Given the description of an element on the screen output the (x, y) to click on. 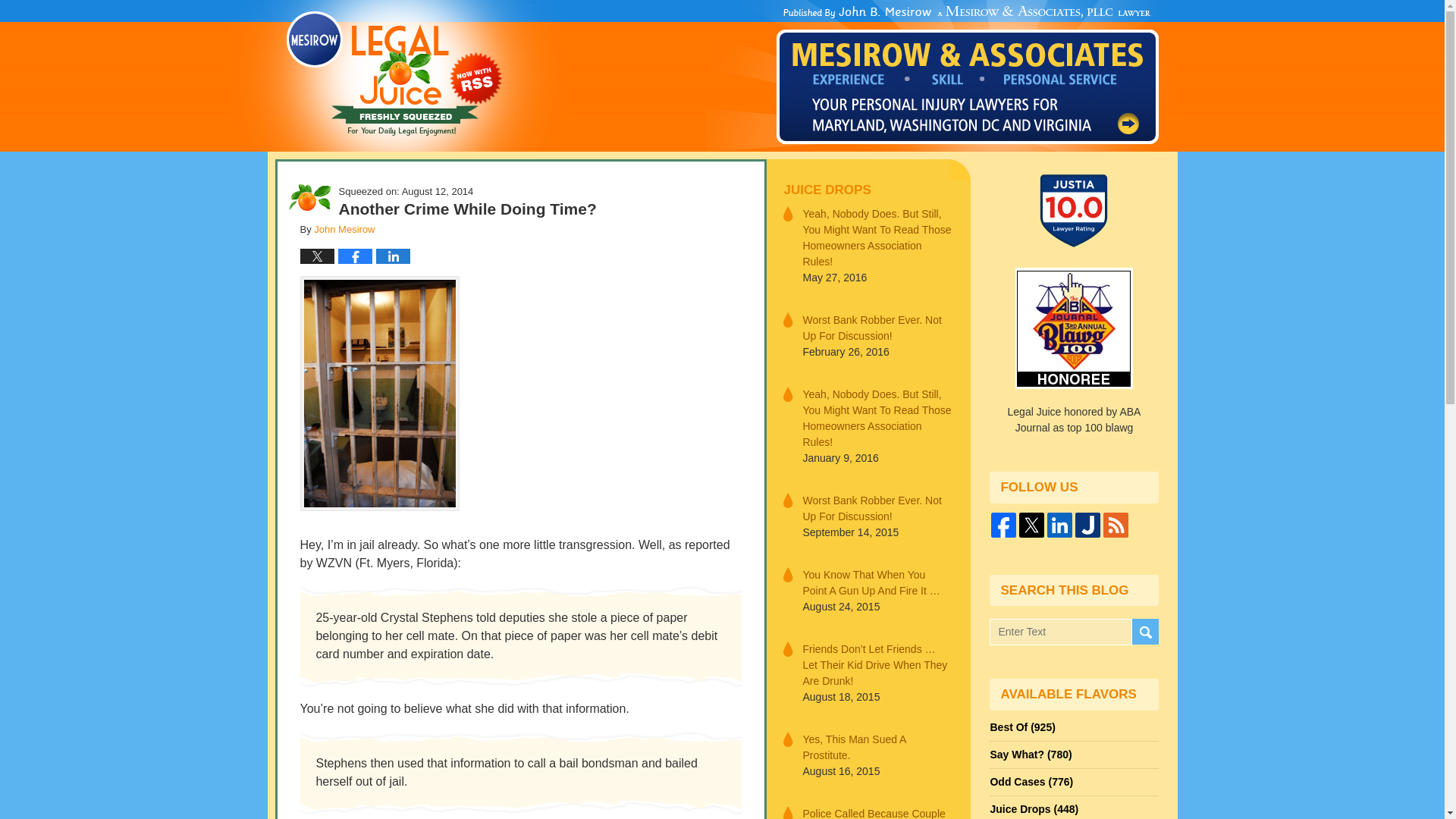
Twitter (1031, 524)
Worst Bank Robber Ever. Not Up For Discussion! (877, 508)
Legal Juice (394, 73)
John Mesirow (344, 229)
Yes, This Man Sued A Prostitute. (877, 746)
Worst Bank Robber Ever. Not Up For Discussion! (877, 327)
SEARCH (1144, 632)
JUICE DROPS (867, 189)
LinkedIn (1059, 524)
Justia (1088, 524)
Facebook (1003, 524)
Feed (1115, 524)
